Given the description of an element on the screen output the (x, y) to click on. 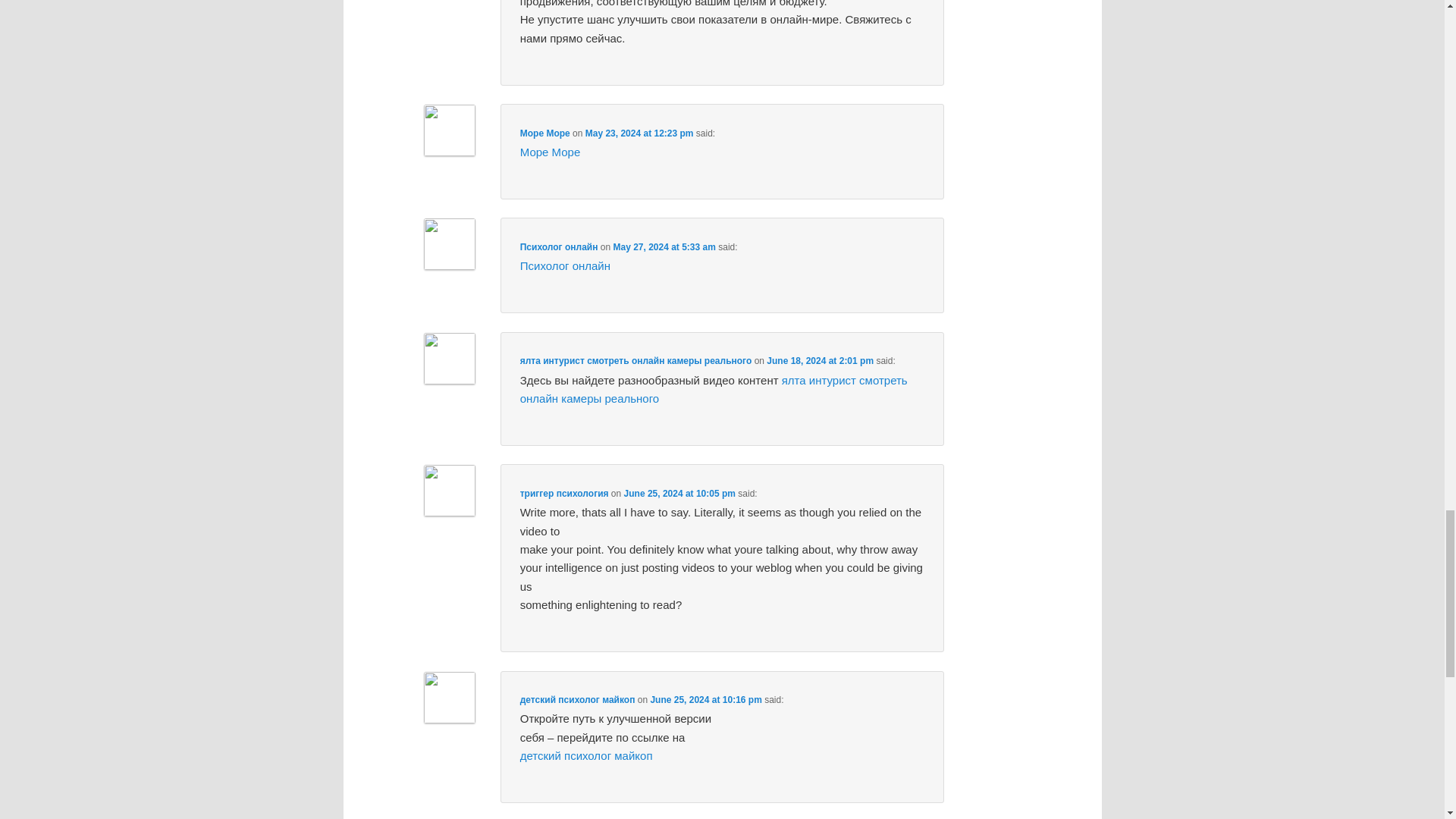
May 23, 2024 at 12:23 pm (639, 132)
June 25, 2024 at 10:05 pm (679, 493)
June 18, 2024 at 2:01 pm (820, 360)
May 27, 2024 at 5:33 am (663, 246)
